Given the description of an element on the screen output the (x, y) to click on. 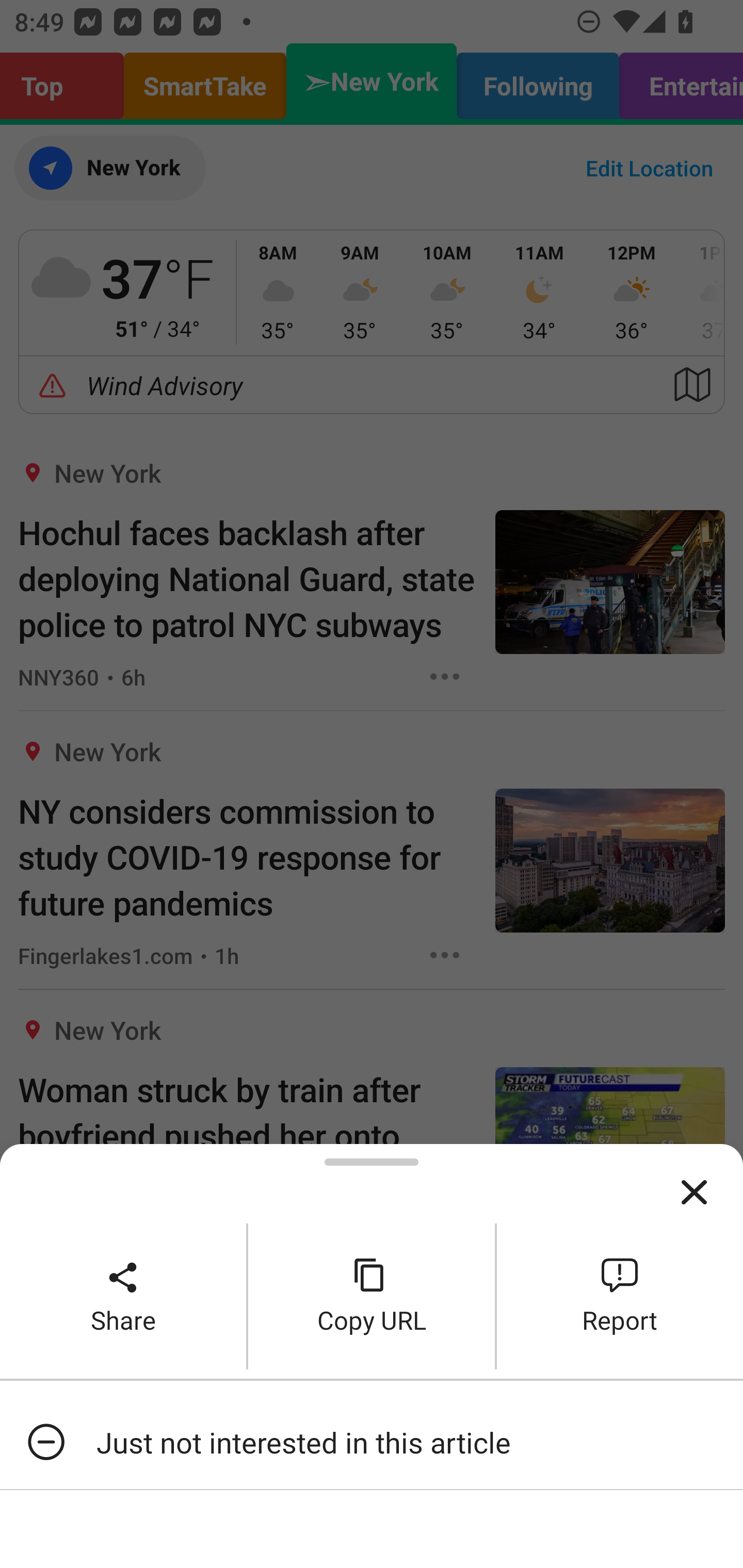
Close (694, 1192)
Share (122, 1295)
Copy URL (371, 1295)
Report (620, 1295)
Just not interested in this article (371, 1442)
